Given the description of an element on the screen output the (x, y) to click on. 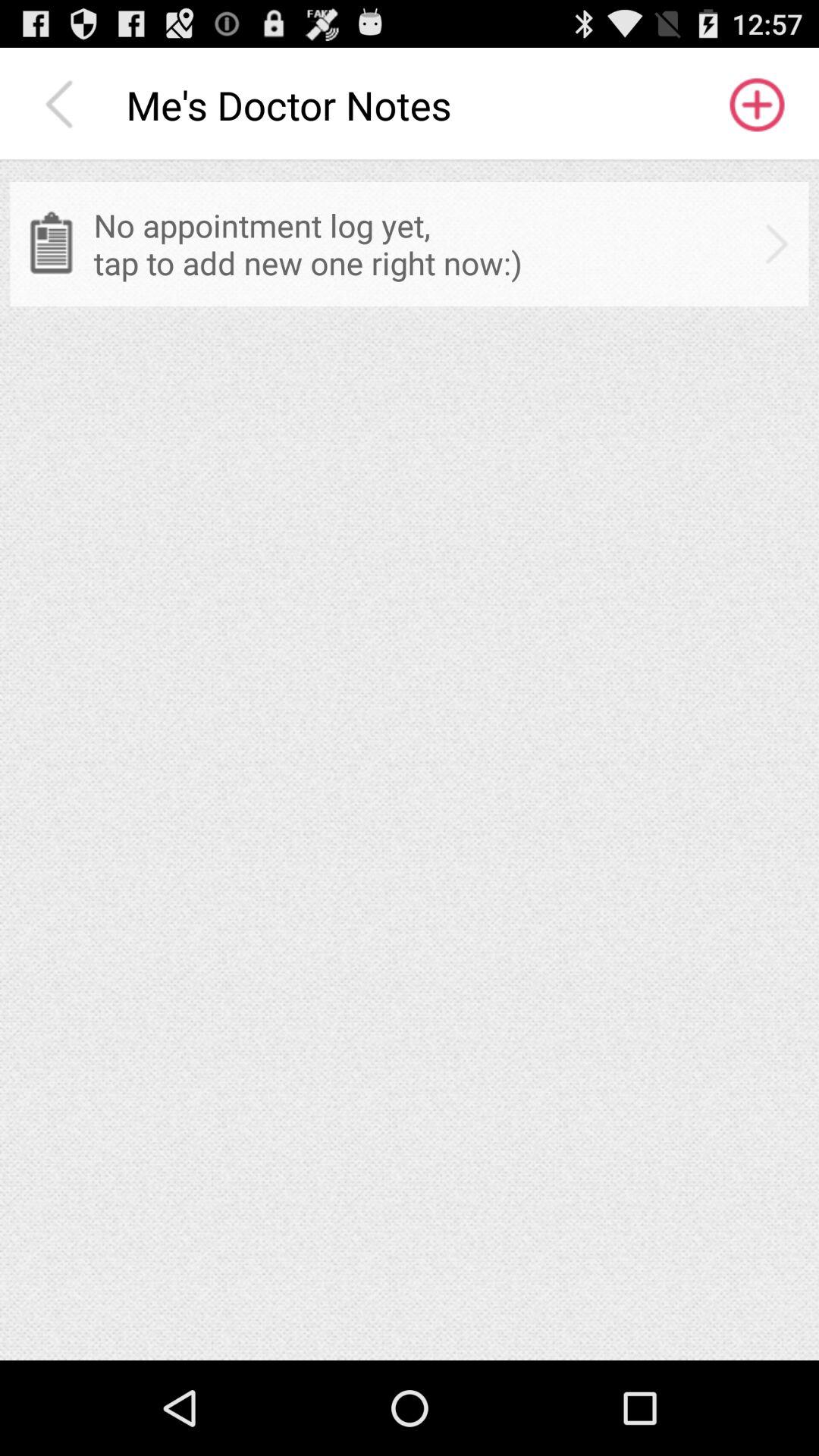
open the icon to the right of me s doctor app (755, 104)
